Given the description of an element on the screen output the (x, y) to click on. 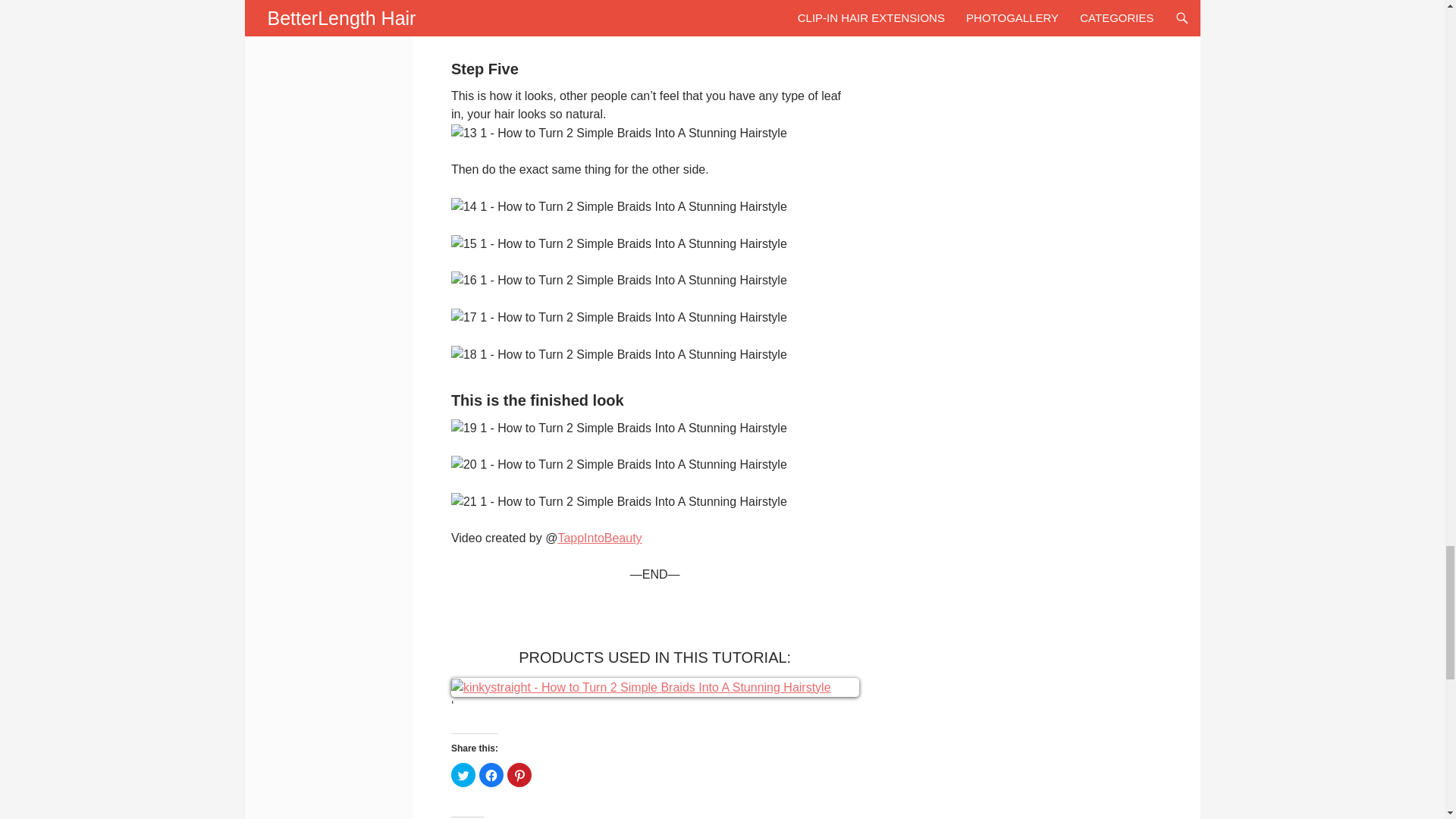
TappIntoBeauty (599, 537)
